Given the description of an element on the screen output the (x, y) to click on. 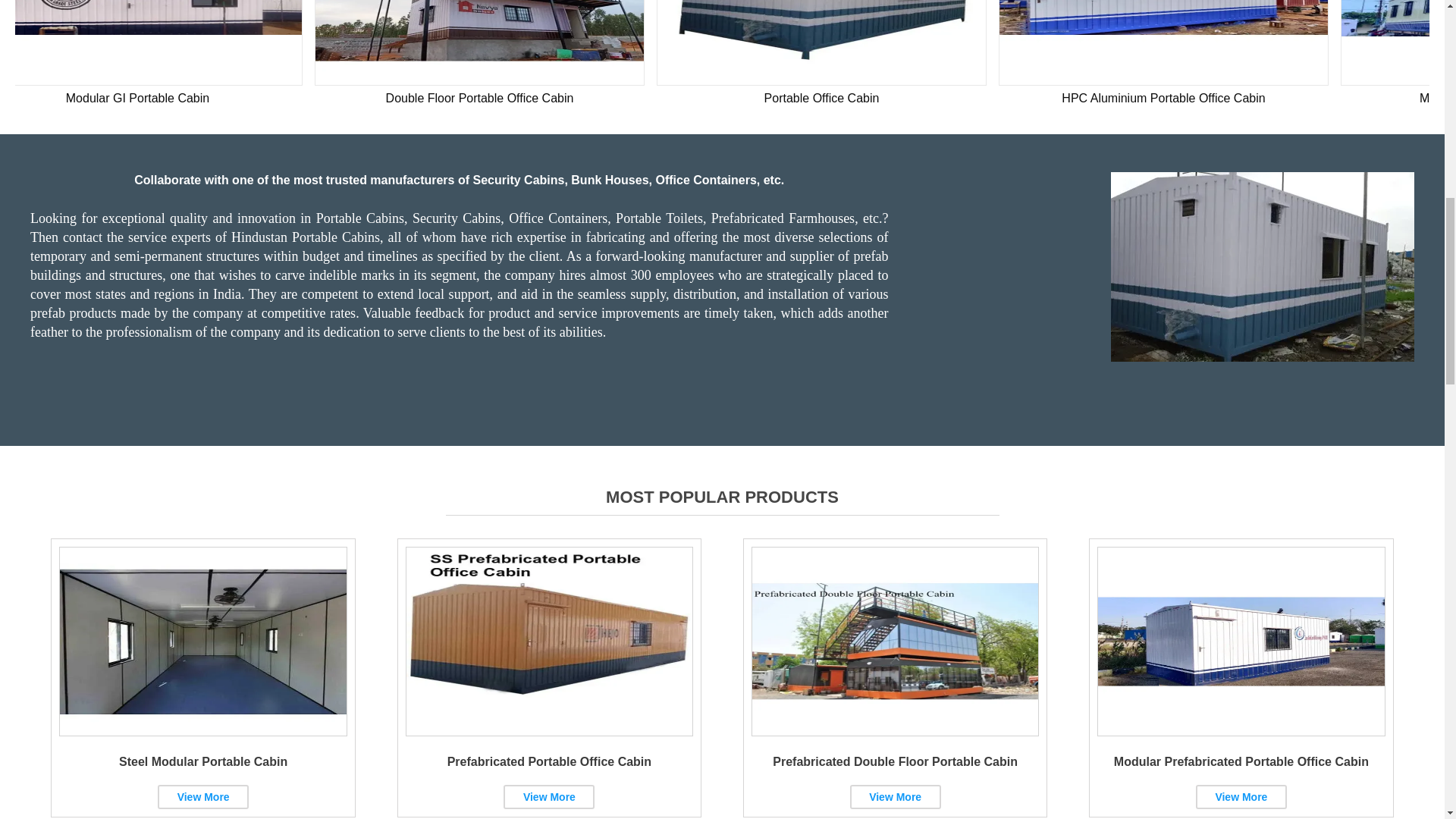
Double Floor Portable Office Cabin (479, 42)
Modular GI Portable Cabin (150, 42)
Portable Office Cabin (821, 42)
HPC Aluminium Portable Office Cabin (1162, 42)
